Given the description of an element on the screen output the (x, y) to click on. 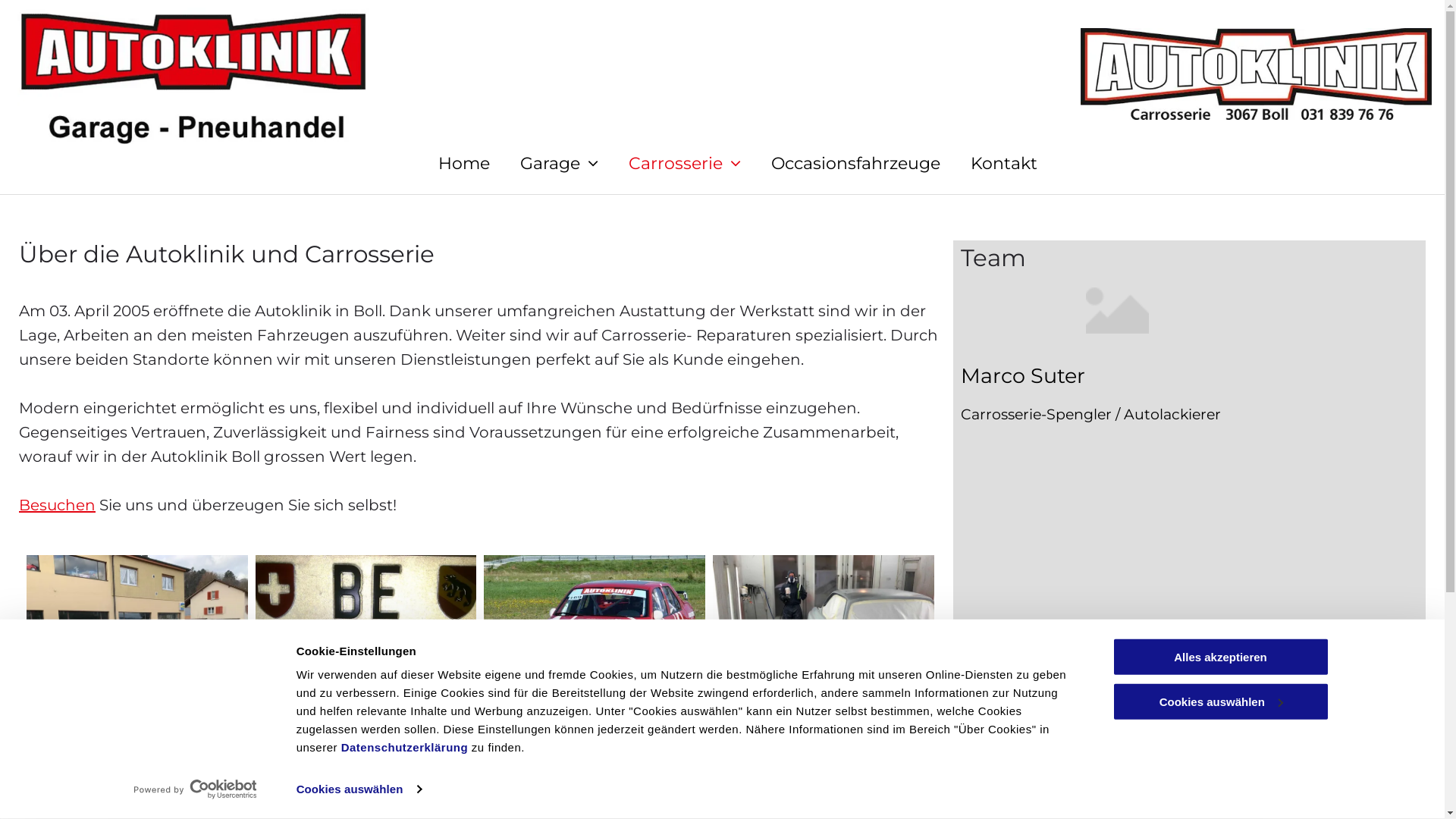
Carrosserie Element type: text (668, 163)
Besuchen Element type: text (56, 504)
Alles akzeptieren Element type: text (1219, 656)
Occasionsfahrzeuge Element type: text (839, 163)
Home Element type: text (448, 163)
Kontakt Element type: text (988, 163)
Garage Element type: text (543, 163)
